Given the description of an element on the screen output the (x, y) to click on. 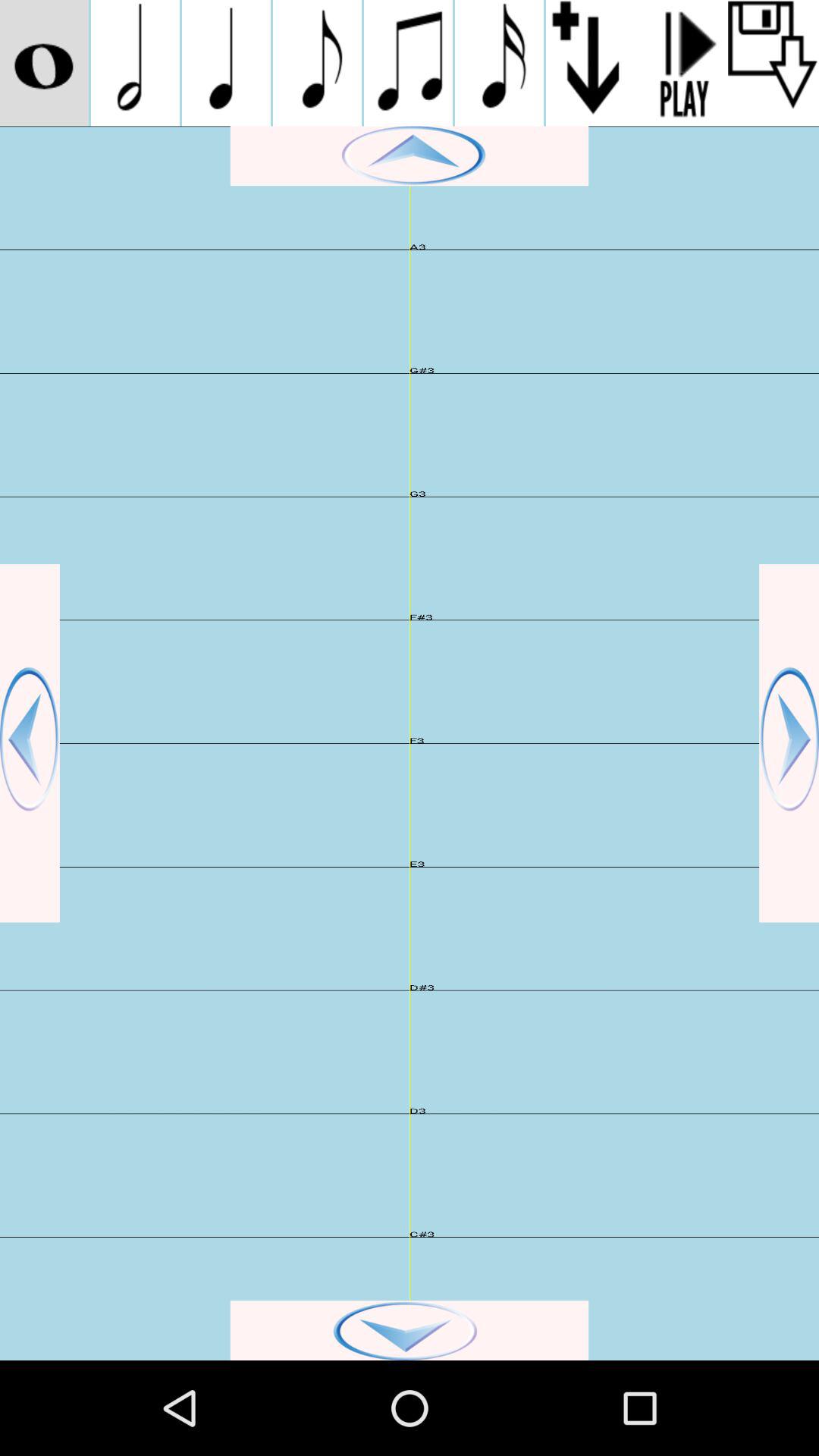
semi-quaver (499, 63)
